Given the description of an element on the screen output the (x, y) to click on. 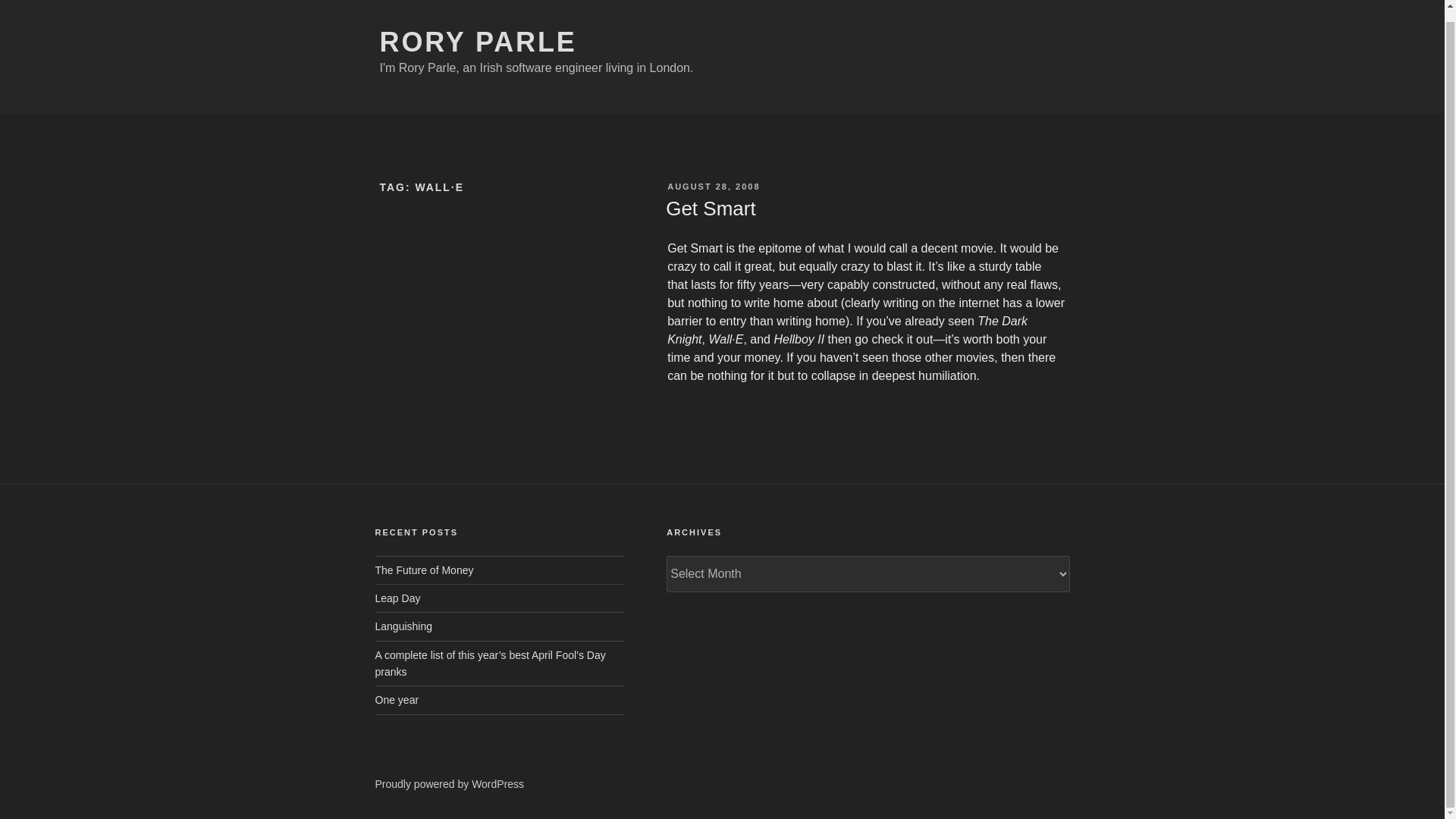
AUGUST 28, 2008 (713, 185)
Languishing (403, 625)
RORY PARLE (477, 41)
Leap Day (397, 598)
The Future of Money (423, 570)
Proudly powered by WordPress (449, 784)
One year (396, 699)
Get Smart (710, 208)
